Given the description of an element on the screen output the (x, y) to click on. 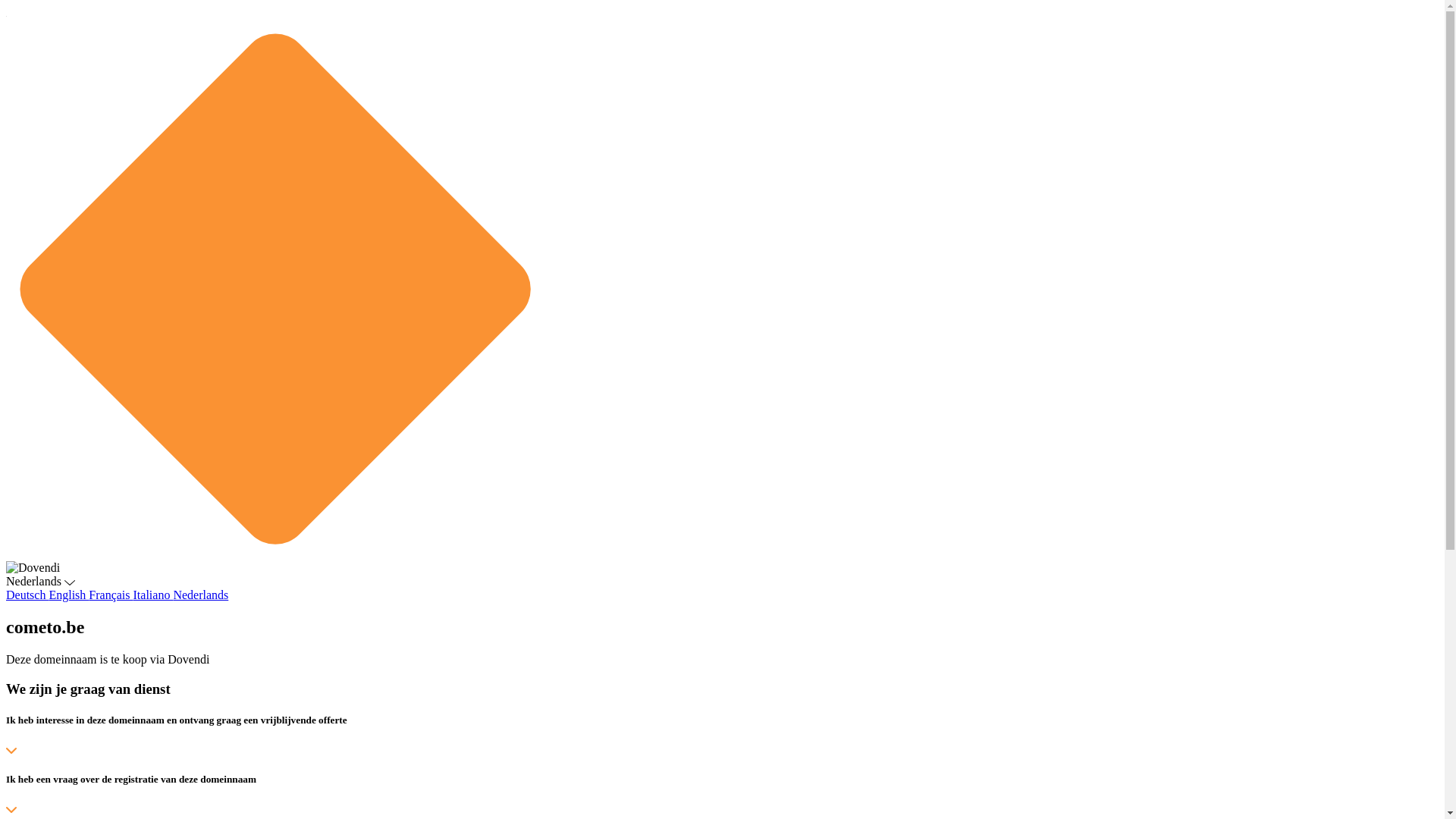
English Element type: text (68, 594)
Deutsch Element type: text (27, 594)
Italiano Element type: text (153, 594)
Nederlands Element type: text (200, 594)
